Given the description of an element on the screen output the (x, y) to click on. 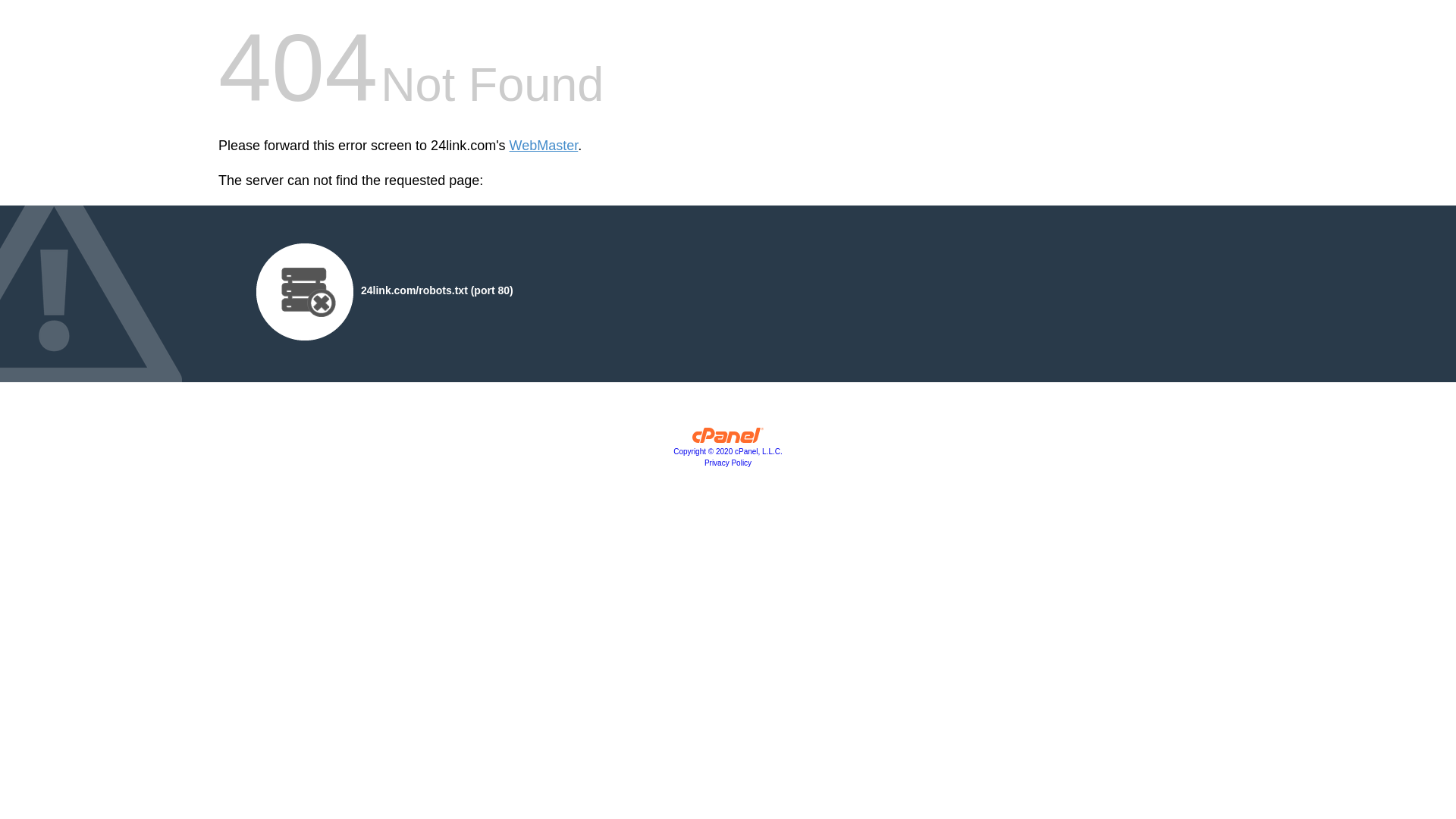
cPanel, Inc. Element type: hover (728, 439)
Privacy Policy Element type: text (727, 462)
WebMaster Element type: text (543, 145)
